Given the description of an element on the screen output the (x, y) to click on. 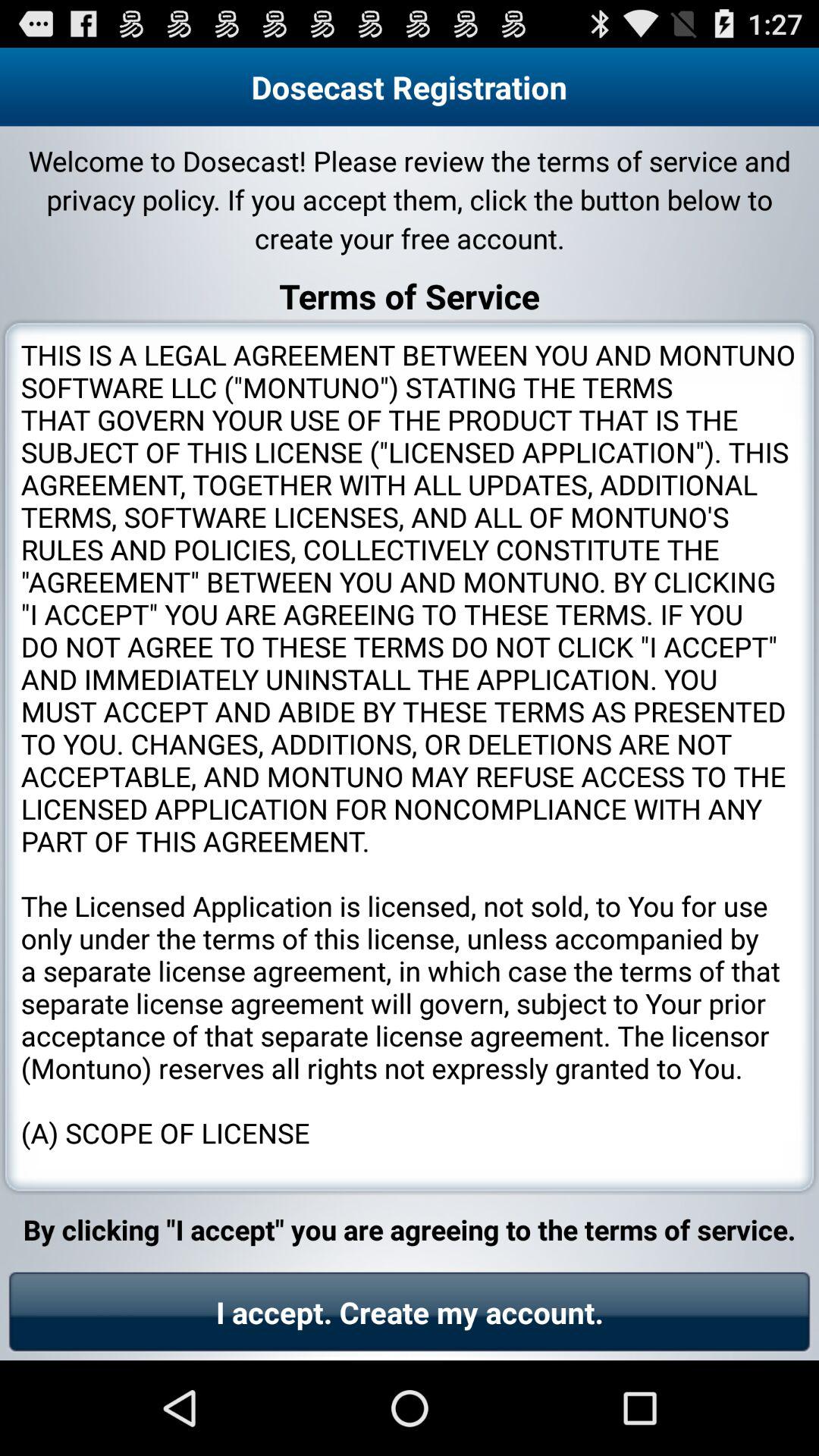
click the icon above the by clicking i item (409, 756)
